Given the description of an element on the screen output the (x, y) to click on. 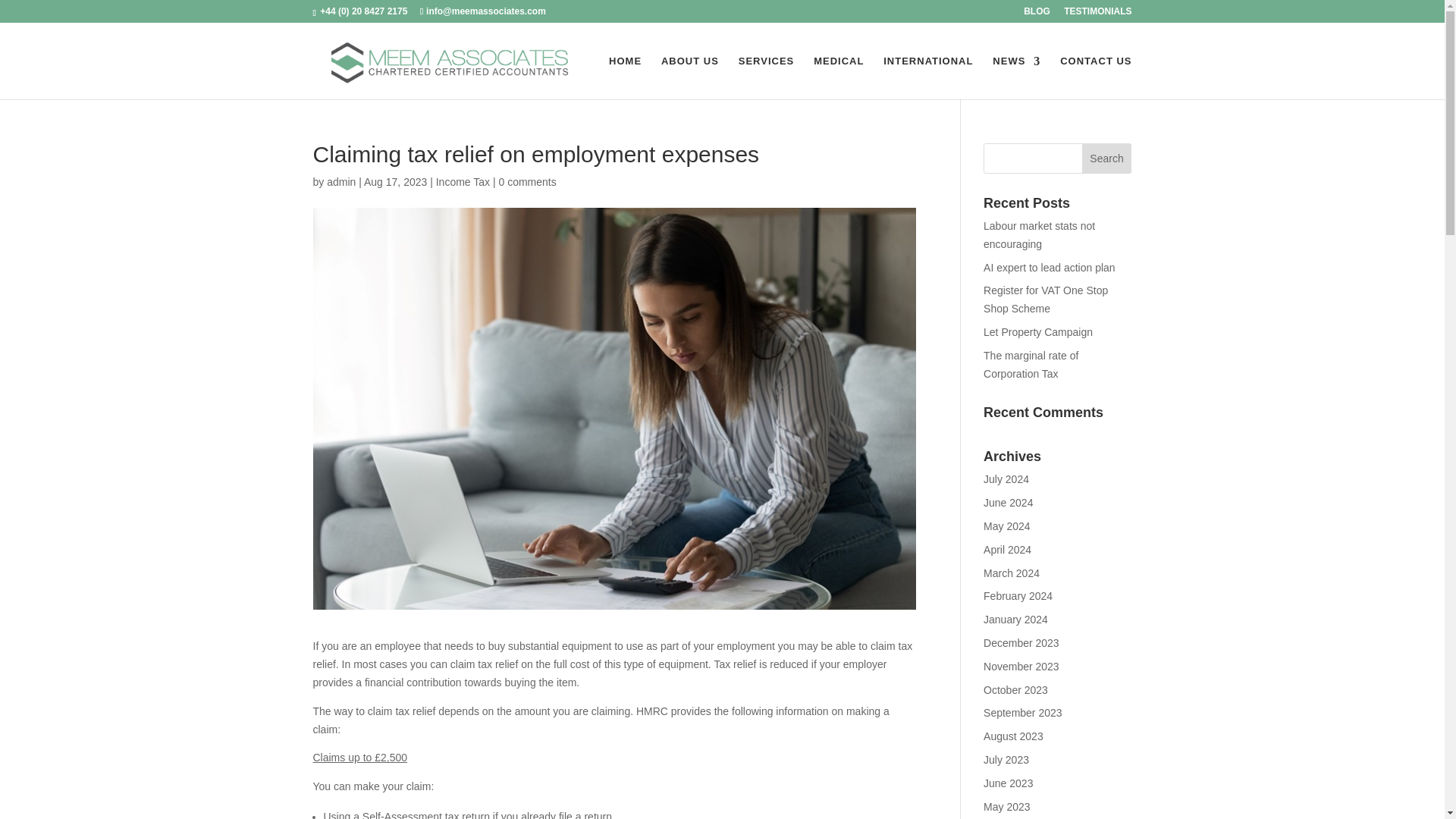
0 comments (526, 182)
BLOG (1036, 14)
ABOUT US (690, 77)
Let Property Campaign (1038, 331)
AI expert to lead action plan (1049, 267)
MEDICAL (838, 77)
Register for VAT One Stop Shop Scheme (1046, 299)
INTERNATIONAL (927, 77)
The marginal rate of Corporation Tax (1031, 364)
May 2024 (1006, 526)
July 2024 (1006, 479)
June 2024 (1008, 502)
SERVICES (766, 77)
NEWS (1016, 77)
CONTACT US (1095, 77)
